Given the description of an element on the screen output the (x, y) to click on. 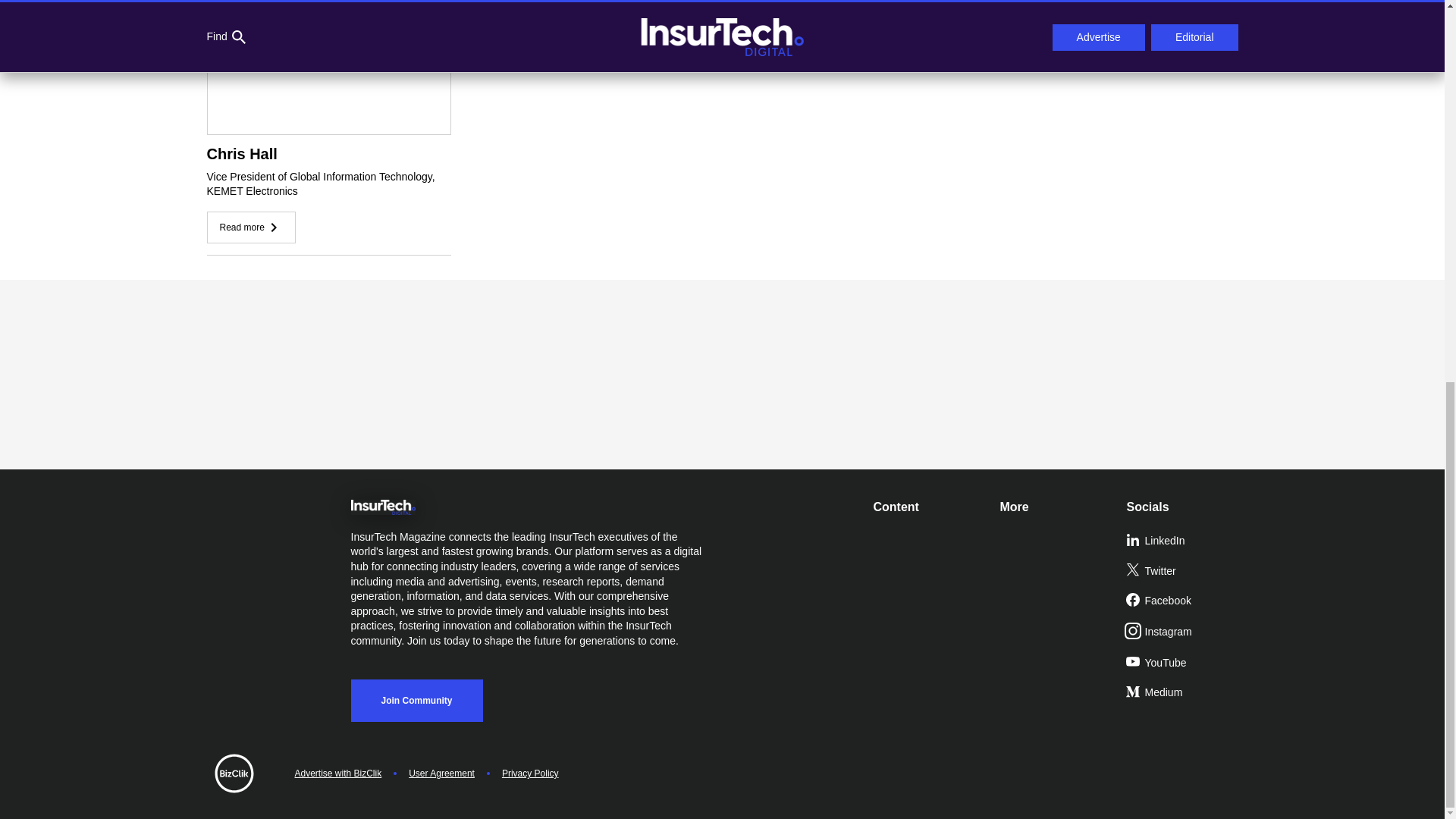
Twitter (1182, 571)
Privacy Policy (530, 773)
LinkedIn (1182, 541)
Medium (1182, 693)
Advertise with BizClik (337, 773)
User Agreement (441, 773)
YouTube (1182, 663)
Facebook (1182, 601)
Instagram (1182, 632)
Join Community (415, 700)
